Given the description of an element on the screen output the (x, y) to click on. 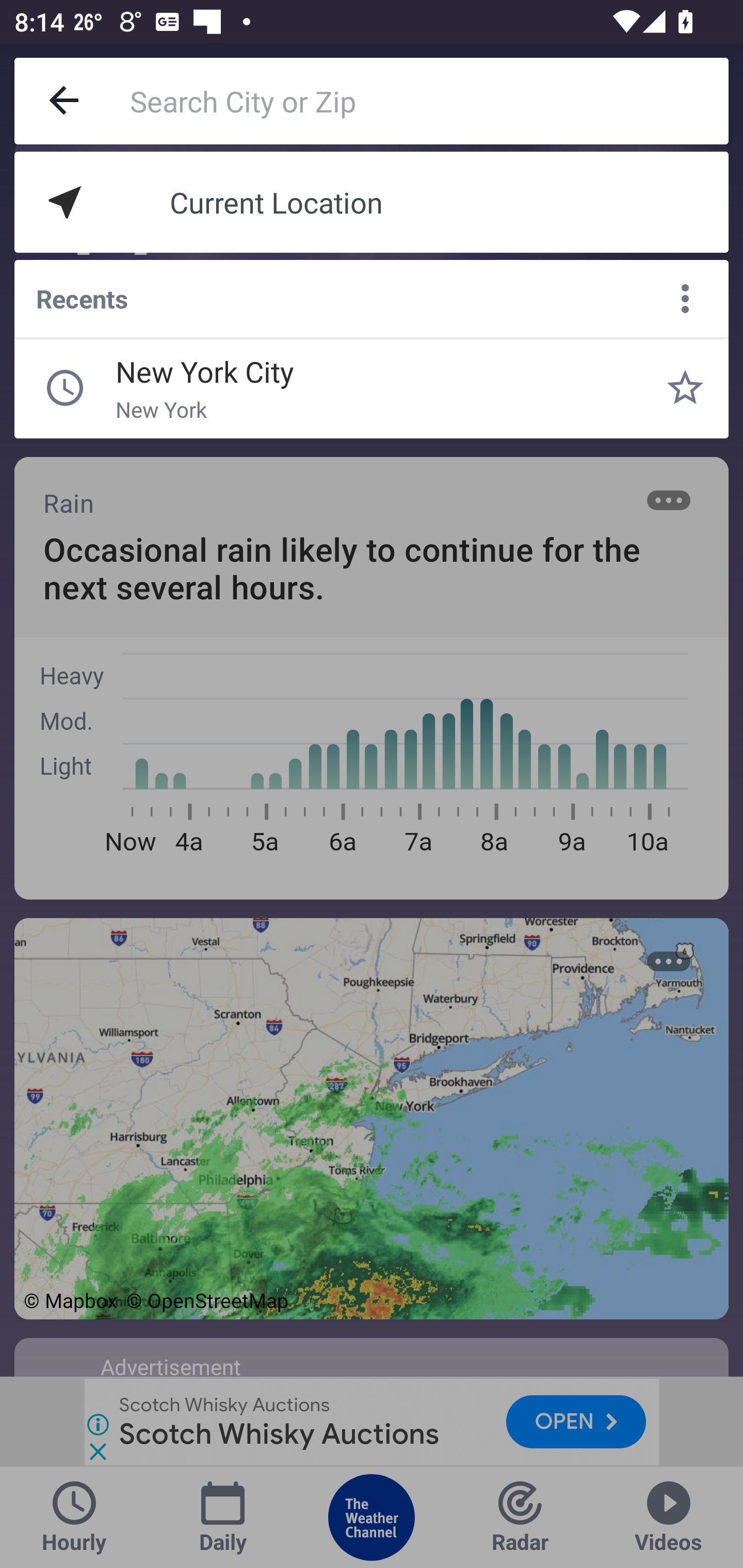
Back (64, 101)
Search City or Zip (429, 100)
Current Location (371, 202)
more (685, 298)
New York City New York Add to favorites (684, 387)
